Given the description of an element on the screen output the (x, y) to click on. 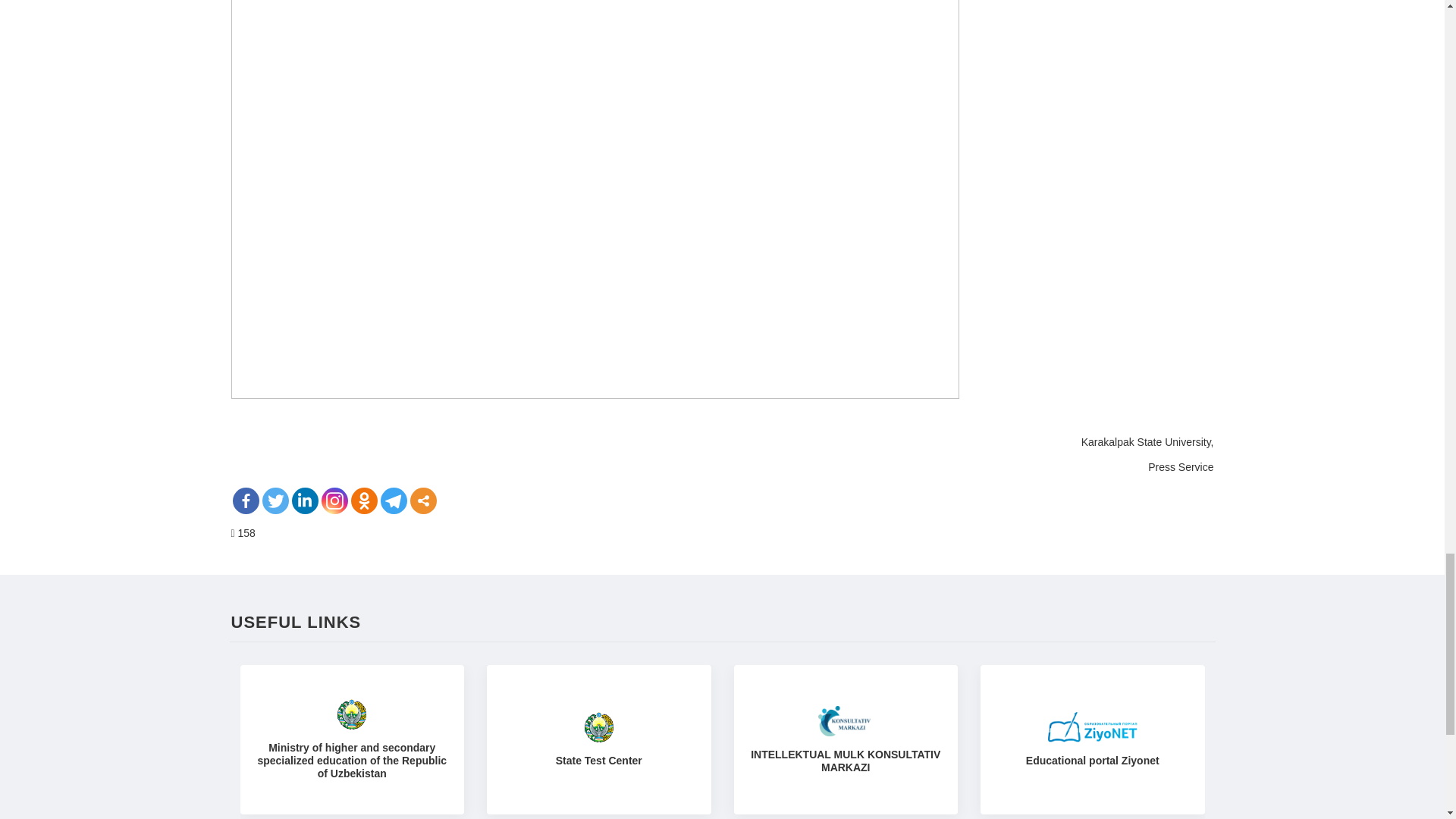
Twitter (275, 500)
Odnoklassniki (363, 500)
Facebook (245, 500)
More (422, 500)
Instagram (334, 500)
Telegram (393, 500)
Linkedin (304, 500)
